Given the description of an element on the screen output the (x, y) to click on. 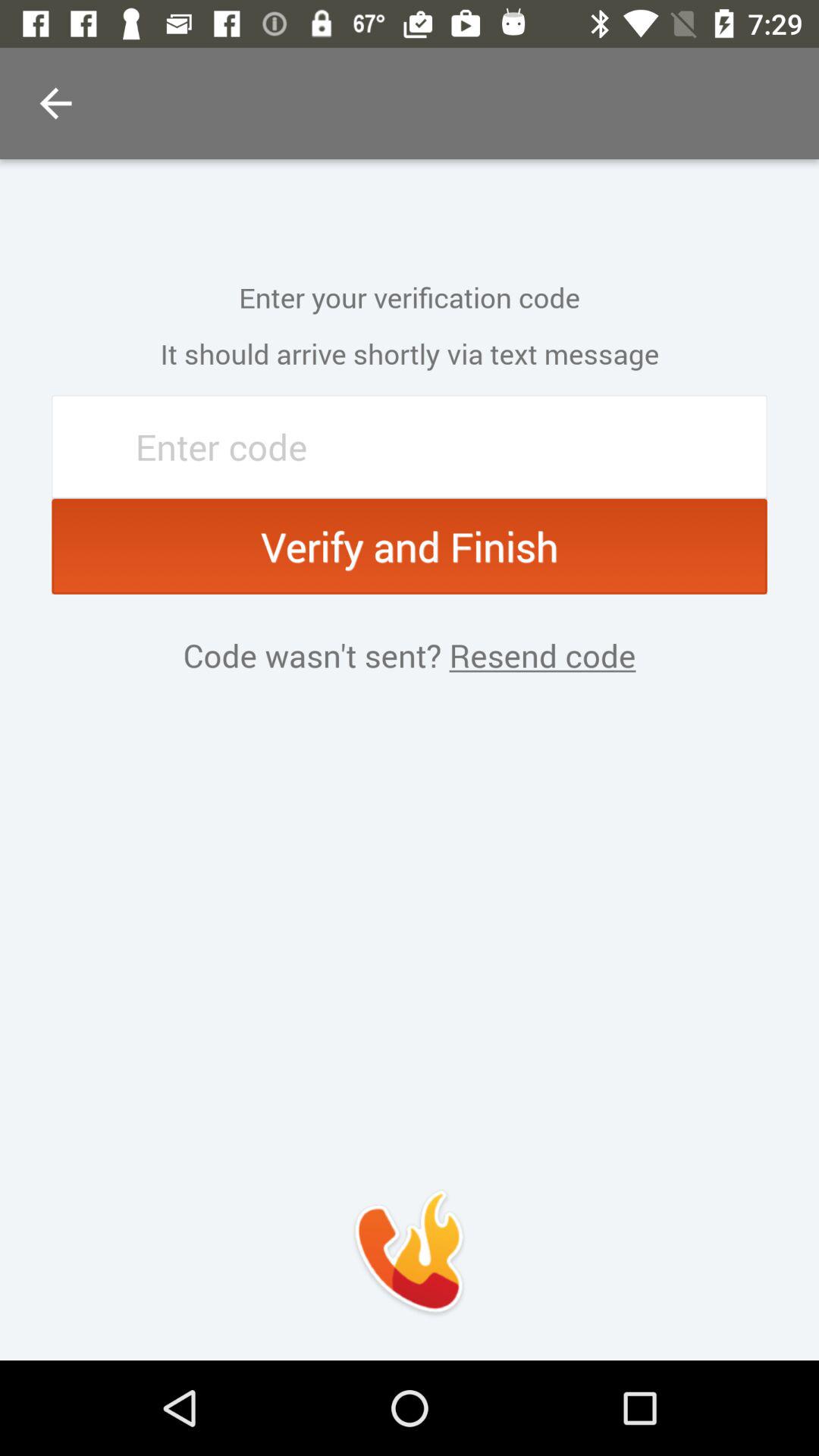
open icon at the top left corner (55, 103)
